Given the description of an element on the screen output the (x, y) to click on. 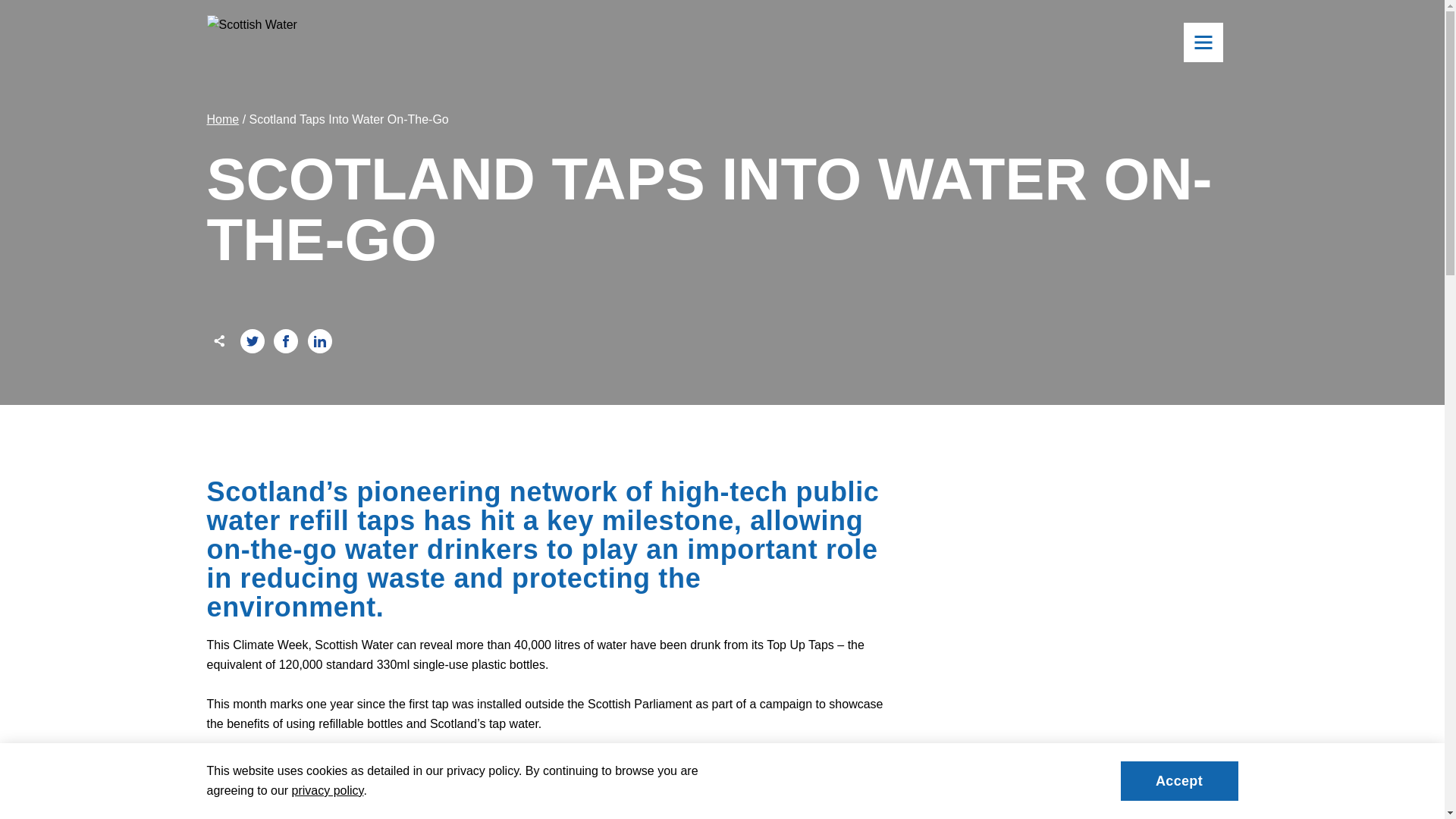
Home (1076, 523)
